Given the description of an element on the screen output the (x, y) to click on. 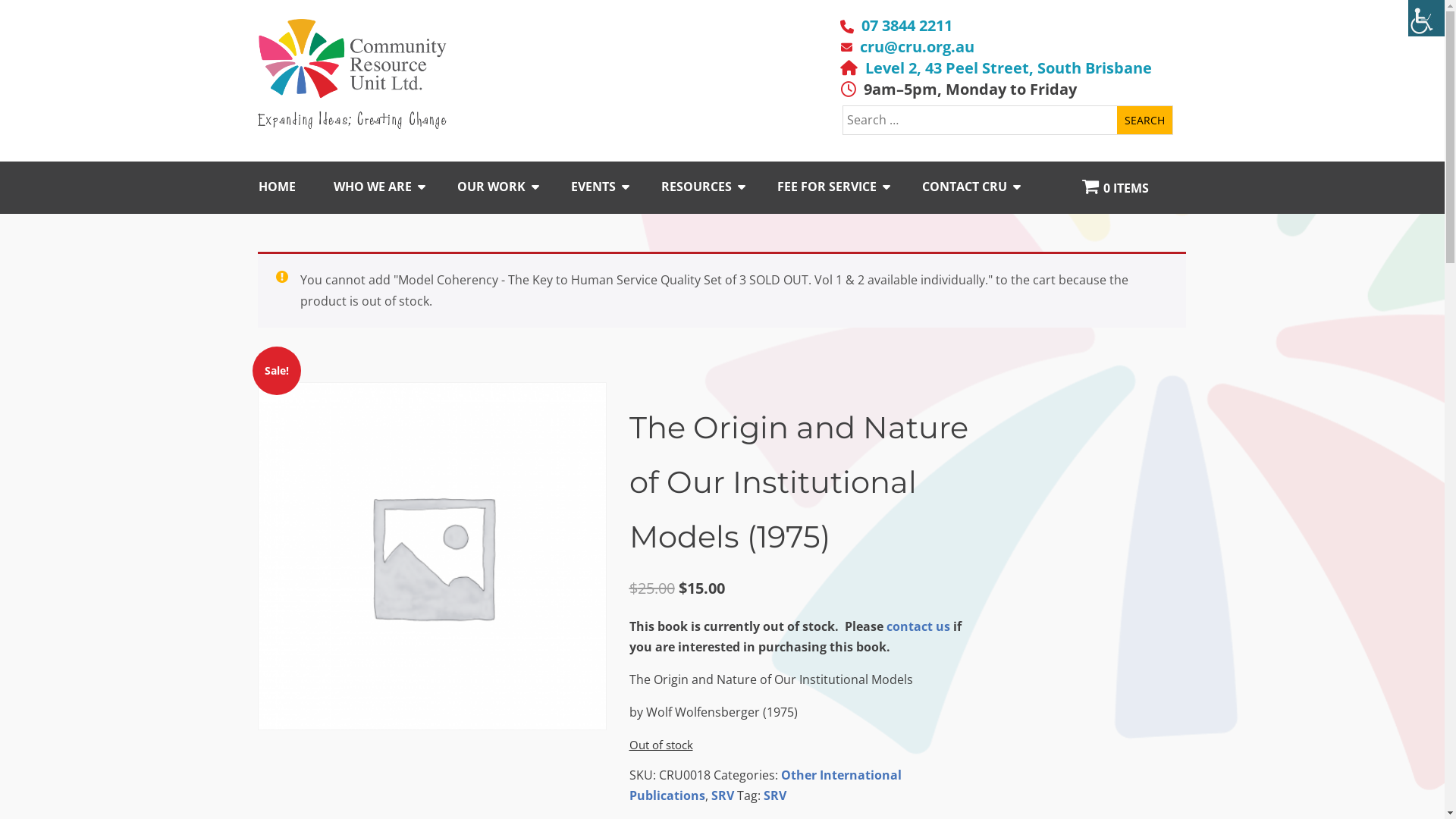
WHO WE ARE Element type: text (395, 186)
CONTACT CRU Element type: text (987, 186)
OUR WORK Element type: text (514, 186)
Level 2, 43 Peel Street, South Brisbane Element type: text (1007, 67)
FEE FOR SERVICE Element type: text (849, 186)
contact us Element type: text (917, 626)
SRV Element type: text (773, 795)
cru@cru.org.au Element type: text (916, 46)
Accessibility Helper sidebar Element type: hover (1426, 18)
Other International Publications Element type: text (765, 784)
HOME Element type: text (295, 186)
07 3844 2211 Element type: text (906, 25)
Search Element type: text (1144, 120)
EVENTS Element type: text (616, 186)
RESOURCES Element type: text (719, 186)
SRV Element type: text (722, 795)
0 ITEMS Element type: text (1134, 187)
